Given the description of an element on the screen output the (x, y) to click on. 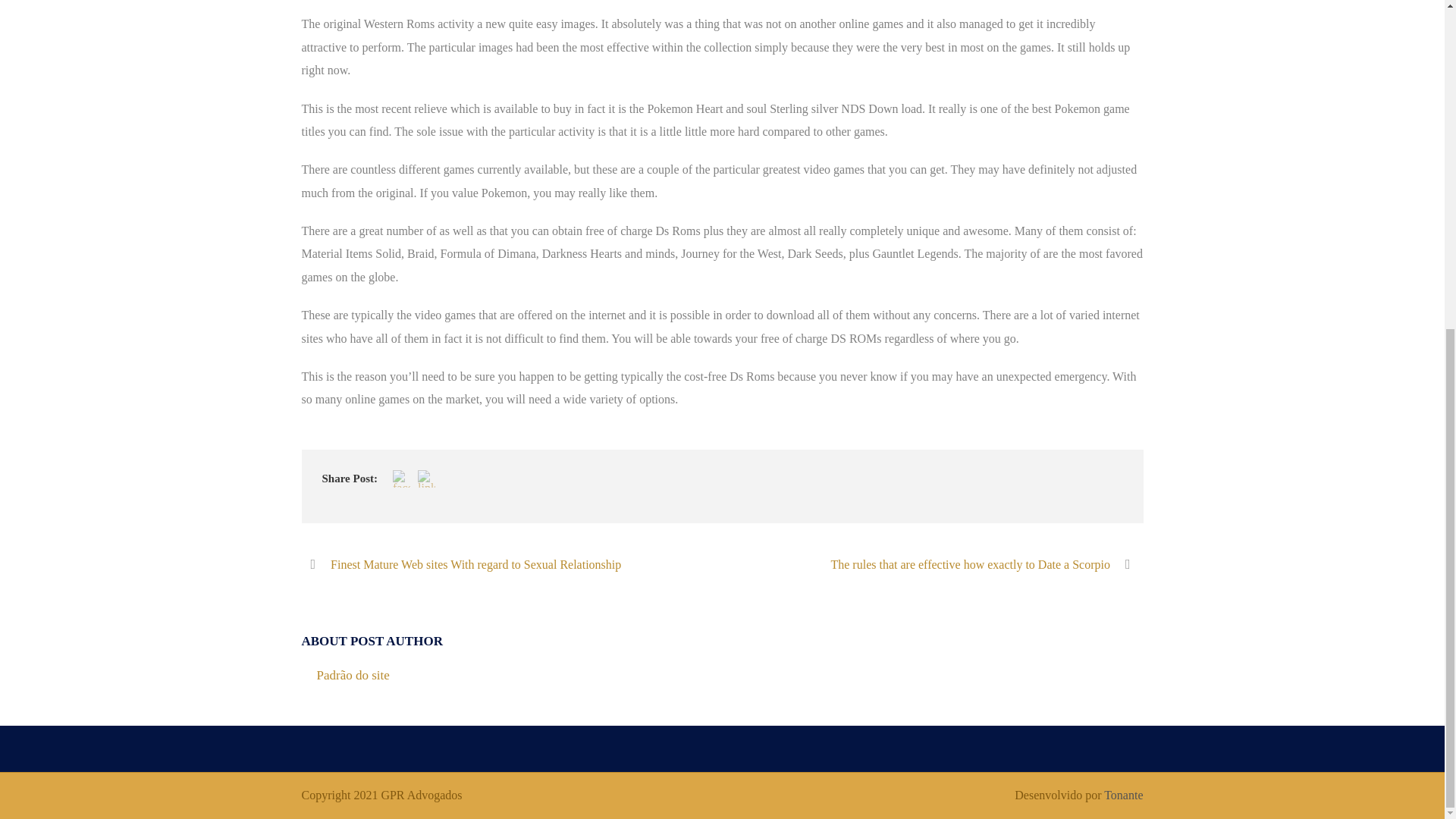
Finest Mature Web sites With regard to Sexual Relationship (461, 563)
The rules that are effective how exactly to Date a Scorpio (985, 563)
Tonante (1122, 794)
